Given the description of an element on the screen output the (x, y) to click on. 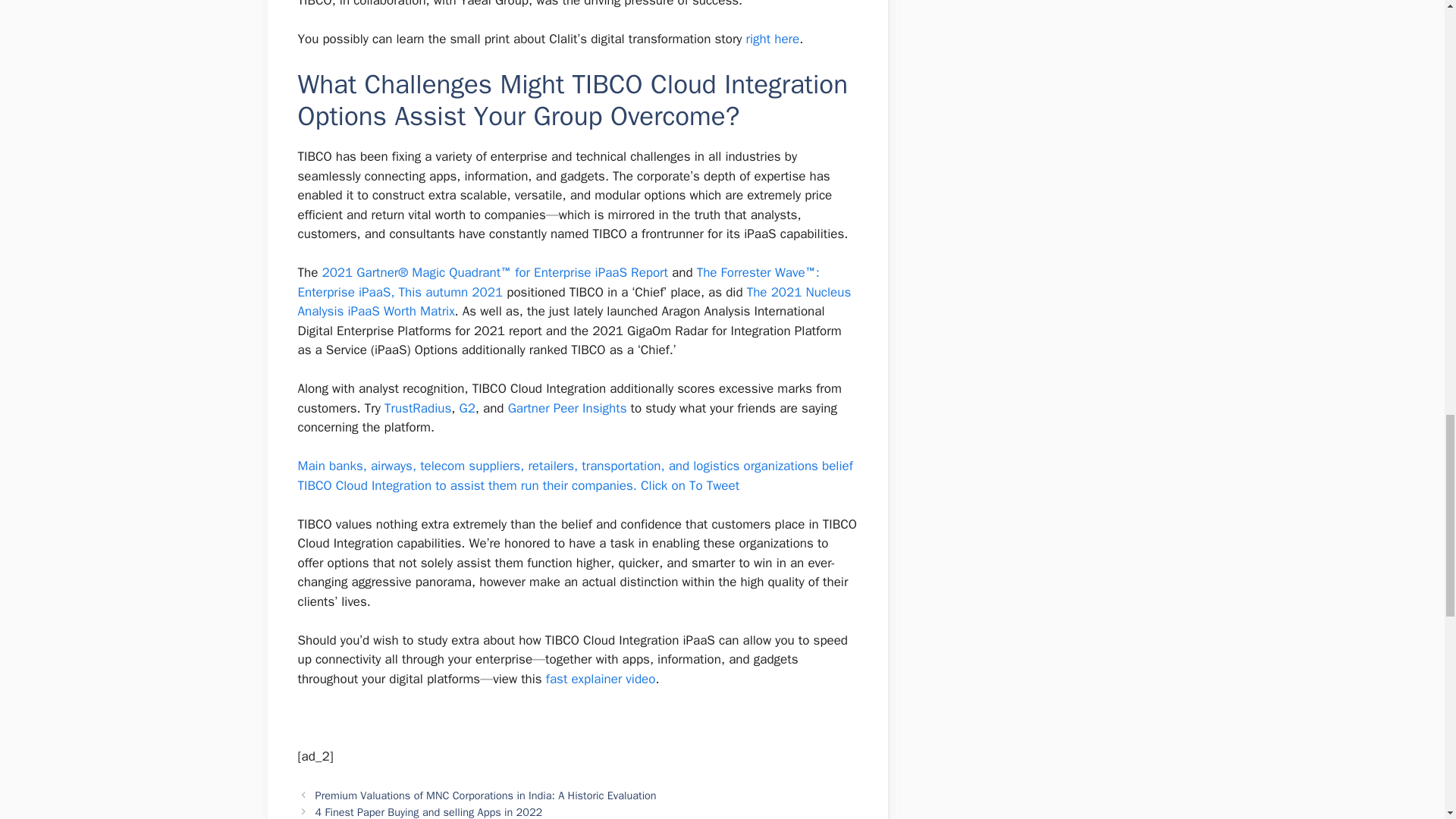
TrustRadius (417, 408)
G2 (466, 408)
right here (772, 38)
fast explainer video (601, 678)
The 2021 Nucleus Analysis iPaaS Worth Matrix (573, 302)
Click on To Tweet (689, 485)
Gartner Peer Insights (567, 408)
4 Finest Paper Buying and selling Apps in 2022 (429, 812)
